Given the description of an element on the screen output the (x, y) to click on. 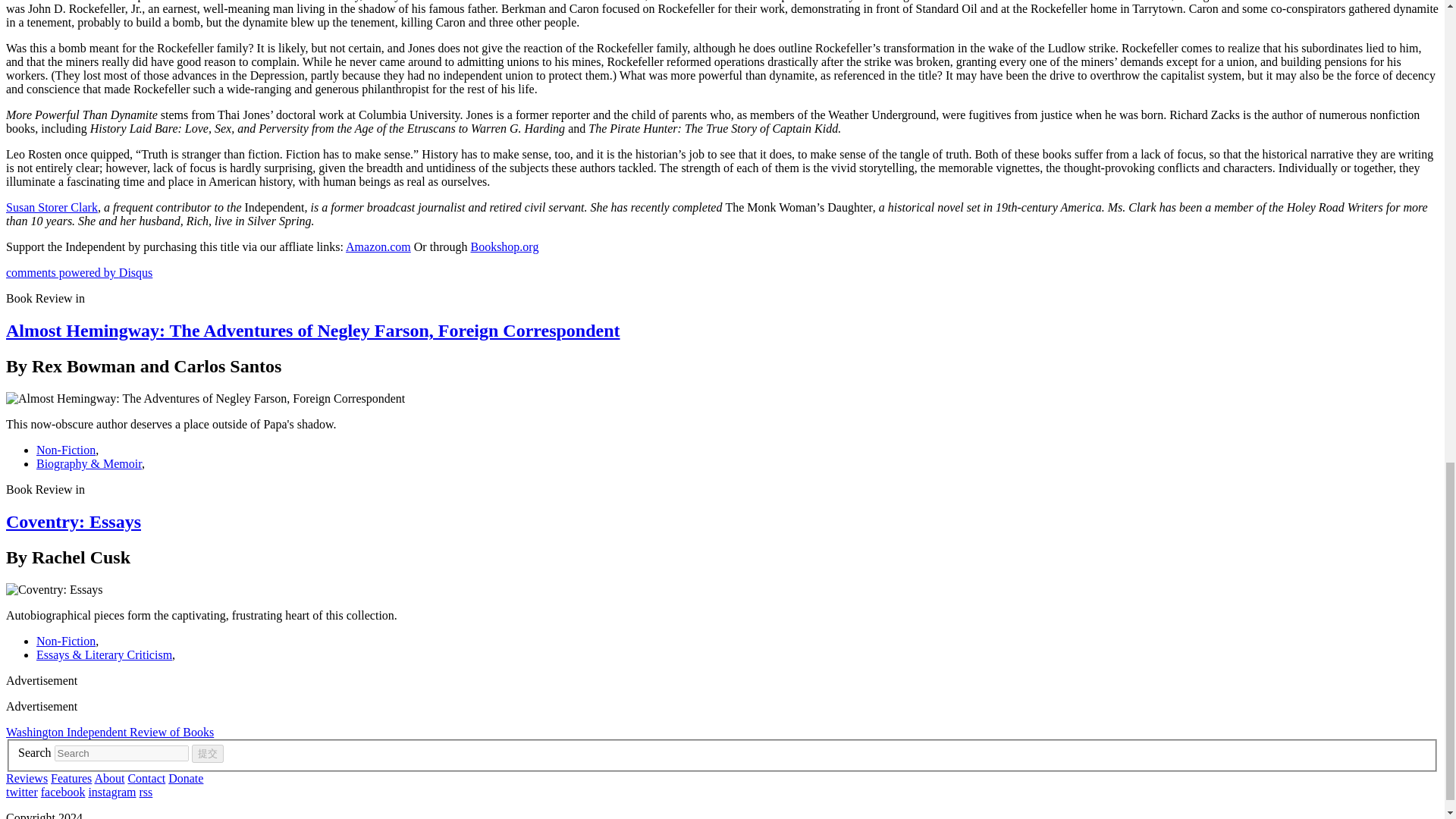
Susan Storer Clark (51, 206)
comments powered by Disqus (78, 272)
Coventry: Essays (73, 521)
Bookshop.org (504, 246)
Contact (146, 778)
twitter (21, 791)
Donate (185, 778)
Reviews (26, 778)
About (108, 778)
Features (70, 778)
